Given the description of an element on the screen output the (x, y) to click on. 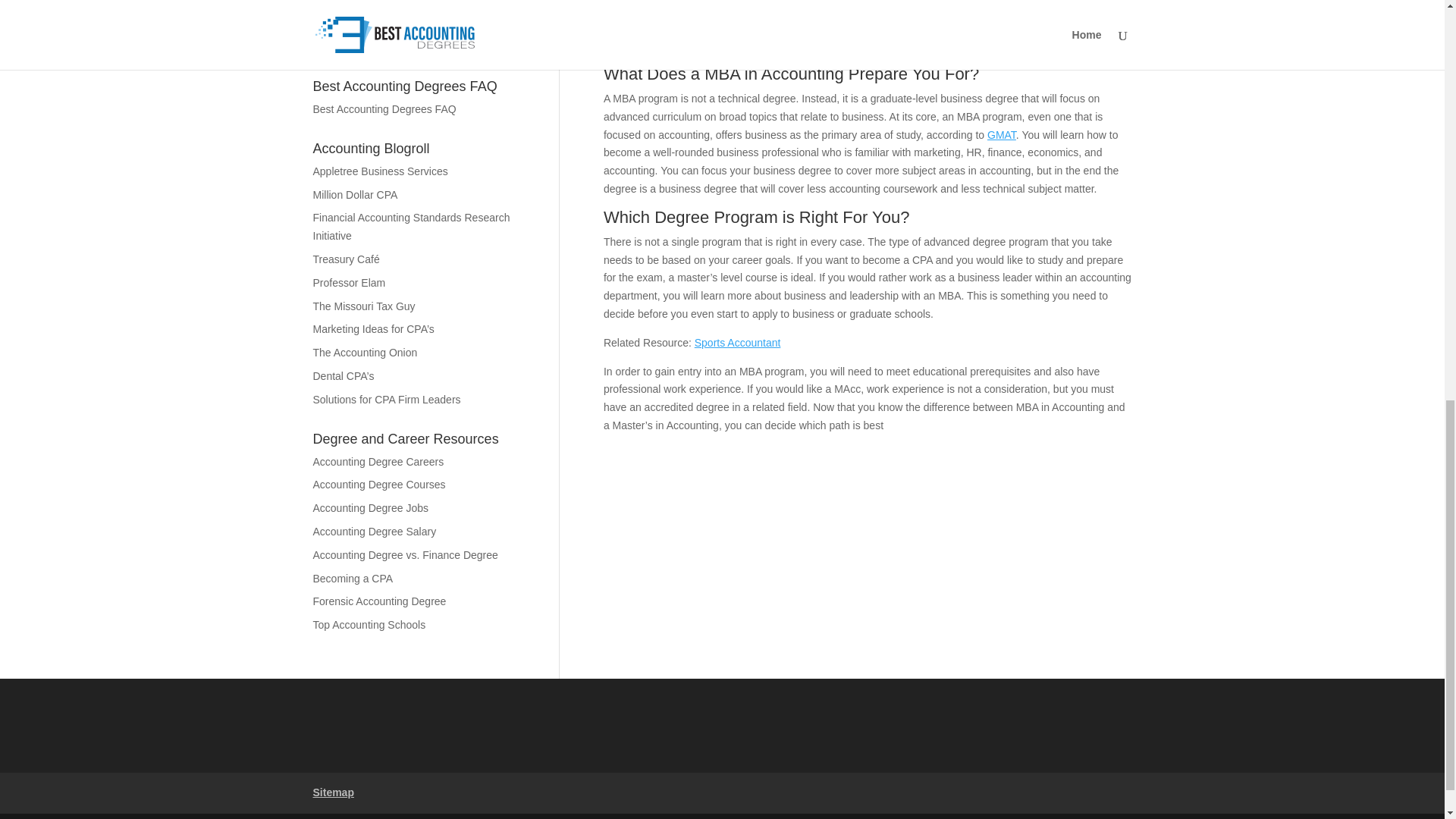
The Missouri Tax Guy (363, 306)
Forensic Accounting Degree (379, 601)
Becoming a CPA (353, 577)
Accounting Degree vs. Finance Degree (405, 554)
Best Accounting Degrees FAQ (384, 109)
Accounting Degree Courses (379, 484)
Financial Accounting Standards Research Initiative (411, 226)
Accounting Degree Jobs (370, 508)
Accounting Degree Careers (378, 461)
10 Musicians Found Guilty of Tax Evasion (411, 46)
Million Dollar CPA (355, 194)
Professor Elam (349, 282)
The Accounting Onion (364, 352)
Sitemap (333, 792)
Solutions for CPA Firm Leaders (386, 399)
